Given the description of an element on the screen output the (x, y) to click on. 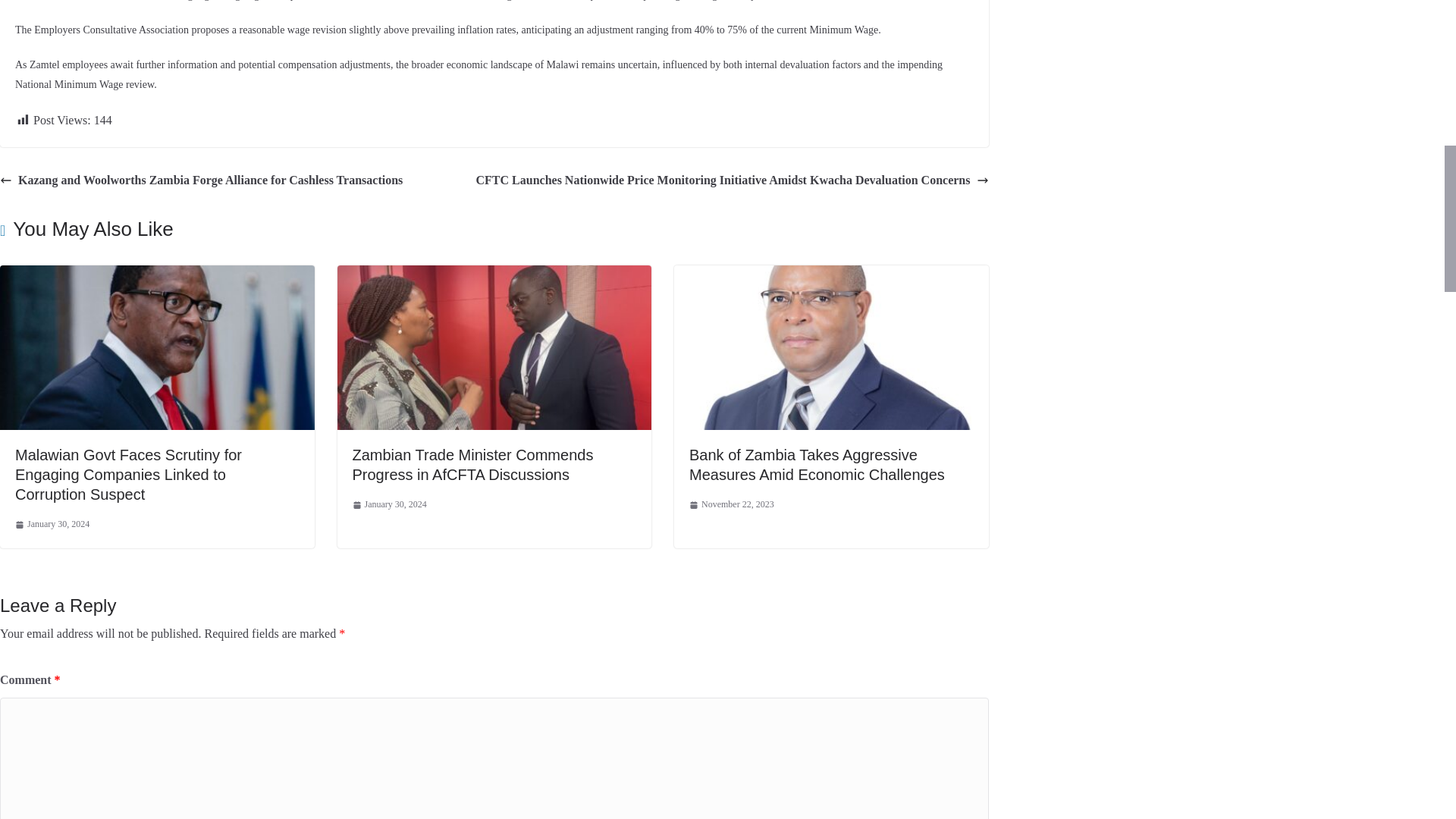
1:34 pm (51, 524)
1:54 pm (389, 504)
11:07 am (731, 504)
